Given the description of an element on the screen output the (x, y) to click on. 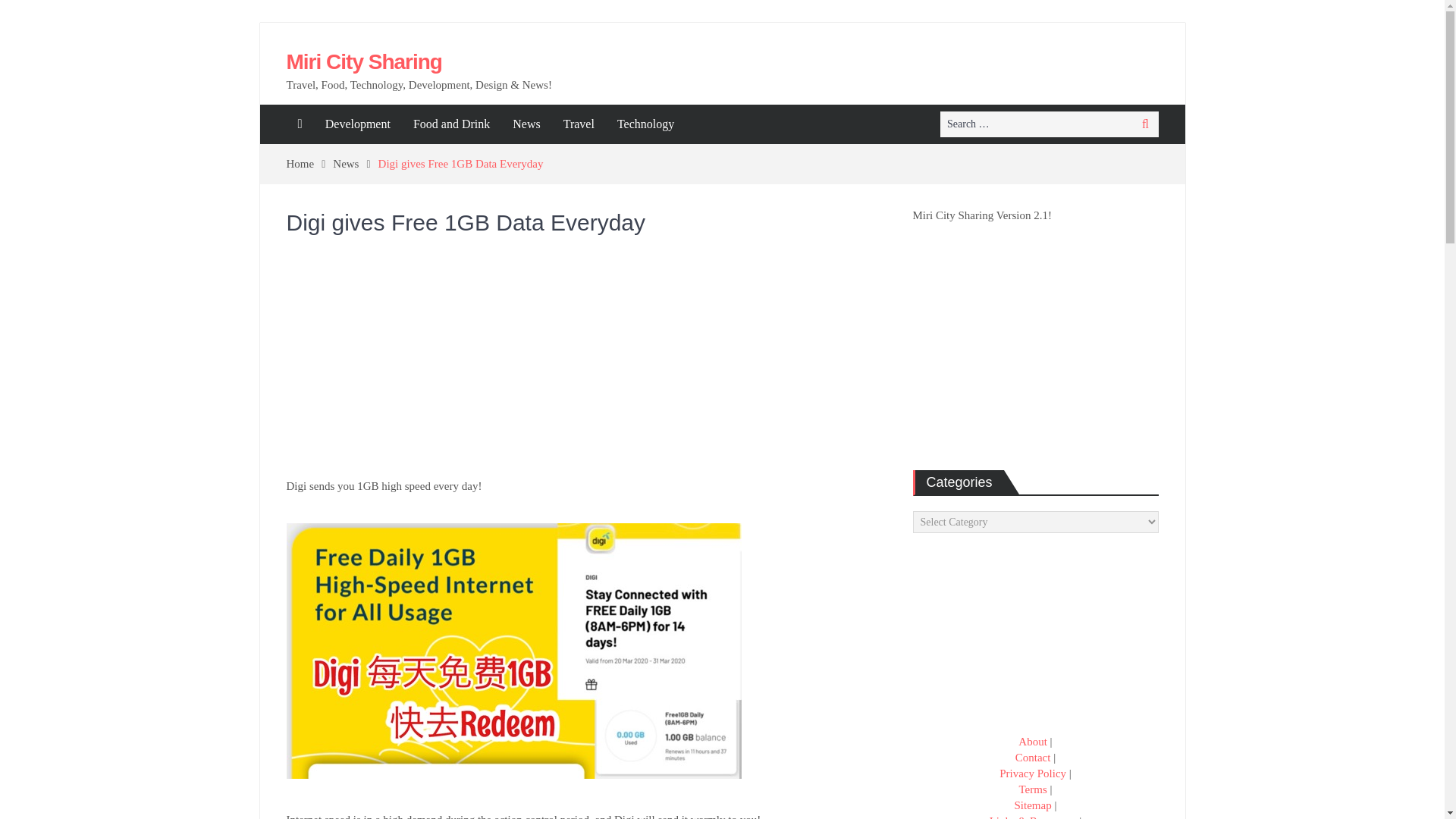
Privacy Policy (1031, 773)
News (525, 124)
Food and Drink (450, 124)
Development (357, 124)
Travel (578, 124)
About (1031, 741)
Technology (645, 124)
Contact (1032, 757)
Advertisement (587, 363)
News (355, 163)
